Given the description of an element on the screen output the (x, y) to click on. 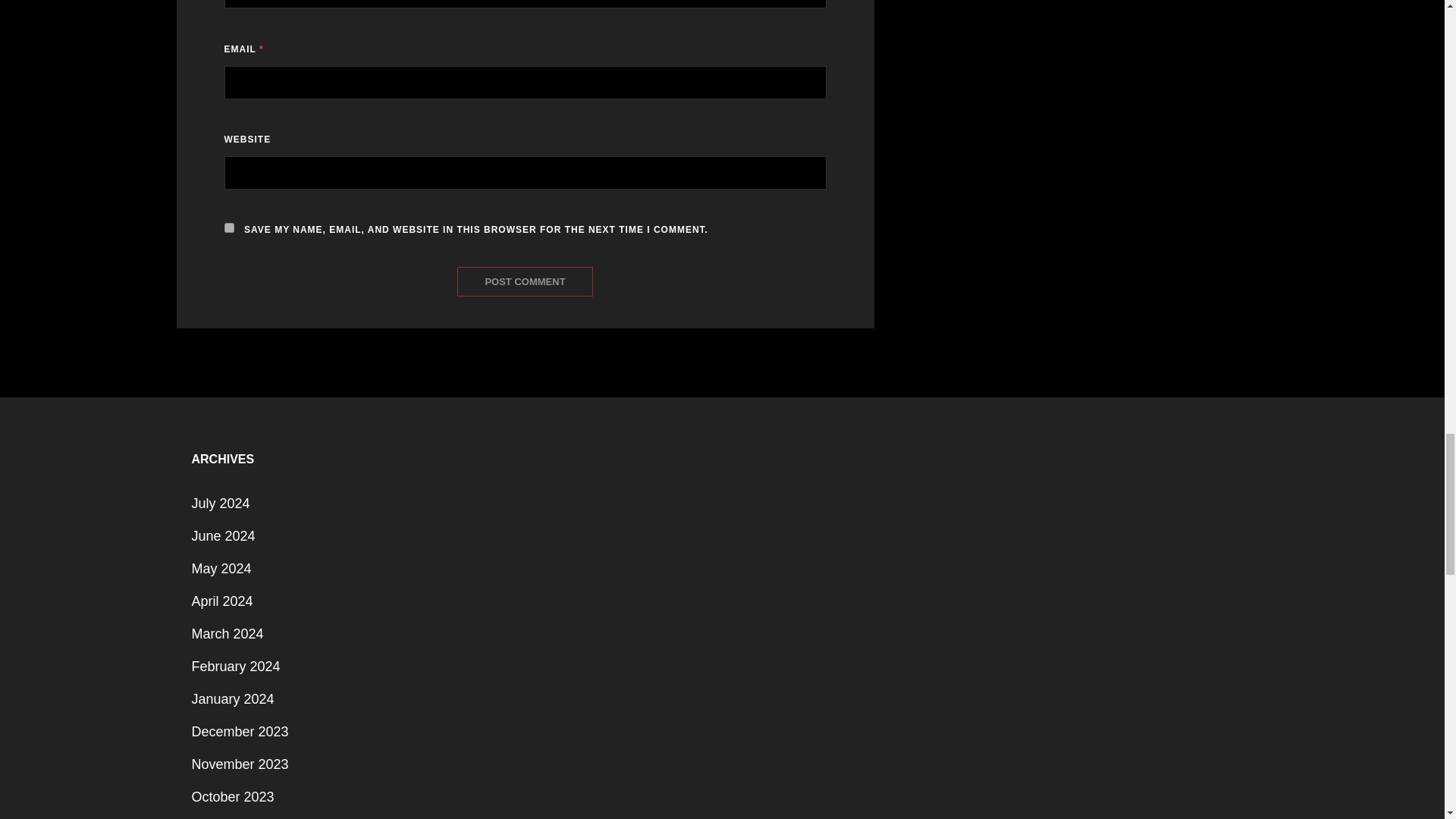
May 2024 (220, 568)
Post Comment (524, 281)
April 2024 (220, 601)
October 2023 (231, 796)
March 2024 (226, 633)
November 2023 (239, 764)
February 2024 (234, 666)
Post Comment (524, 281)
July 2024 (219, 502)
June 2024 (222, 535)
